Given the description of an element on the screen output the (x, y) to click on. 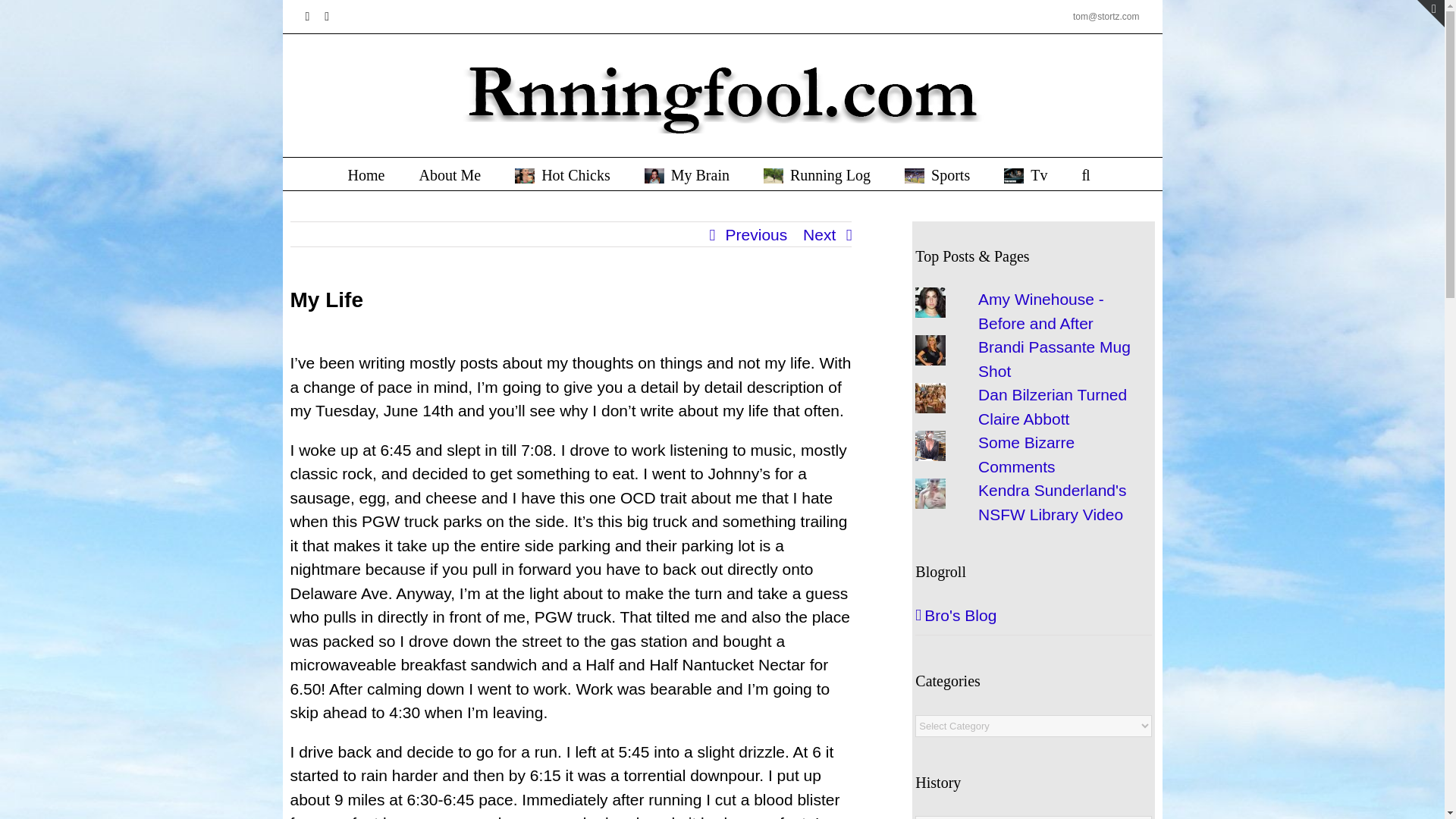
Hot Chicks (562, 174)
Running Log (816, 174)
My Life (654, 175)
Sports (936, 174)
Tv (1025, 174)
My Brain (687, 174)
Next (819, 234)
My Life (772, 175)
Home (366, 174)
Previous (756, 234)
My Life (524, 175)
My Life (1013, 175)
My Life (914, 175)
About Me (449, 174)
